Given the description of an element on the screen output the (x, y) to click on. 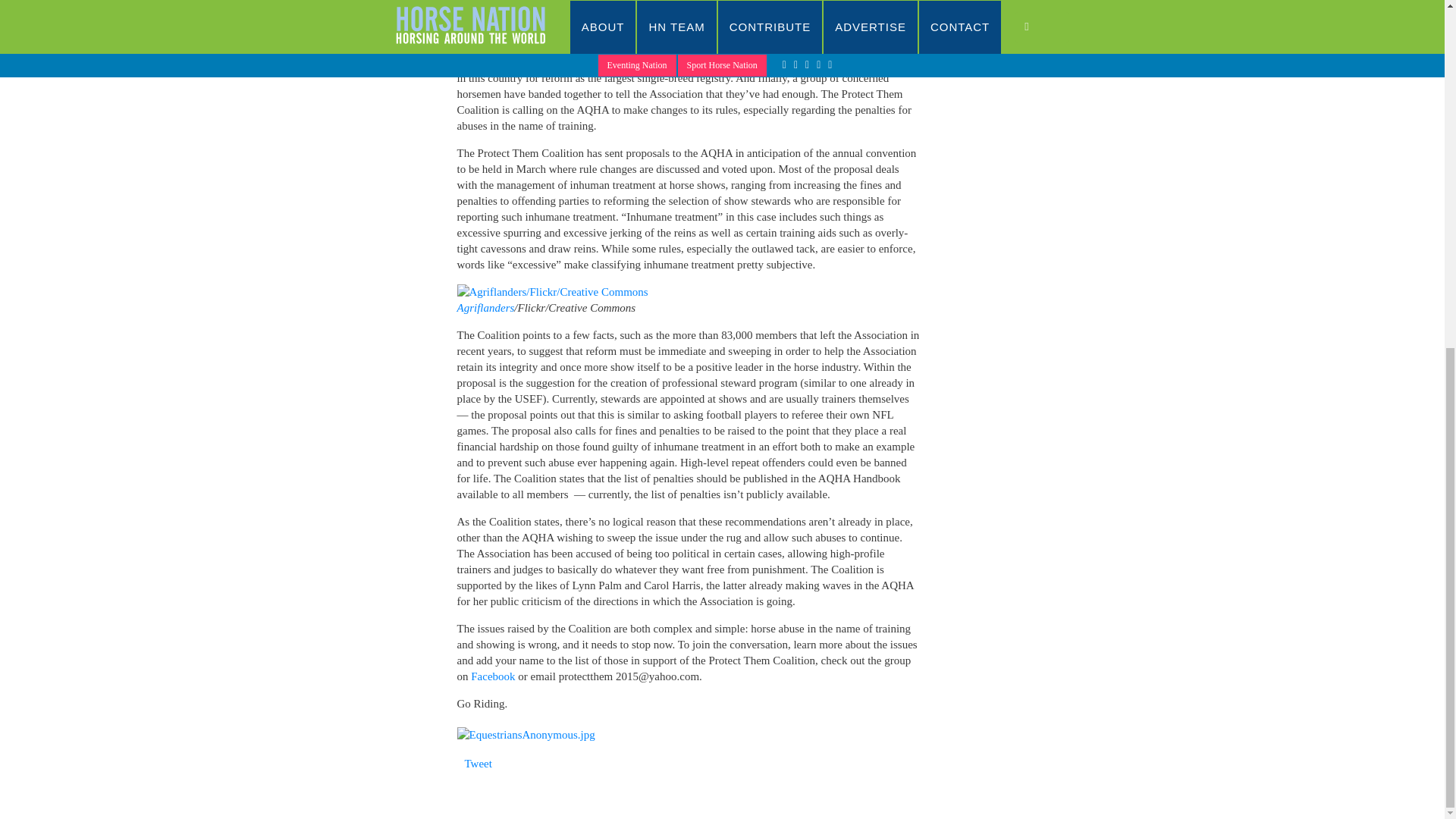
Agriflanders (485, 307)
Facebook (492, 676)
Tweet (478, 763)
